Given the description of an element on the screen output the (x, y) to click on. 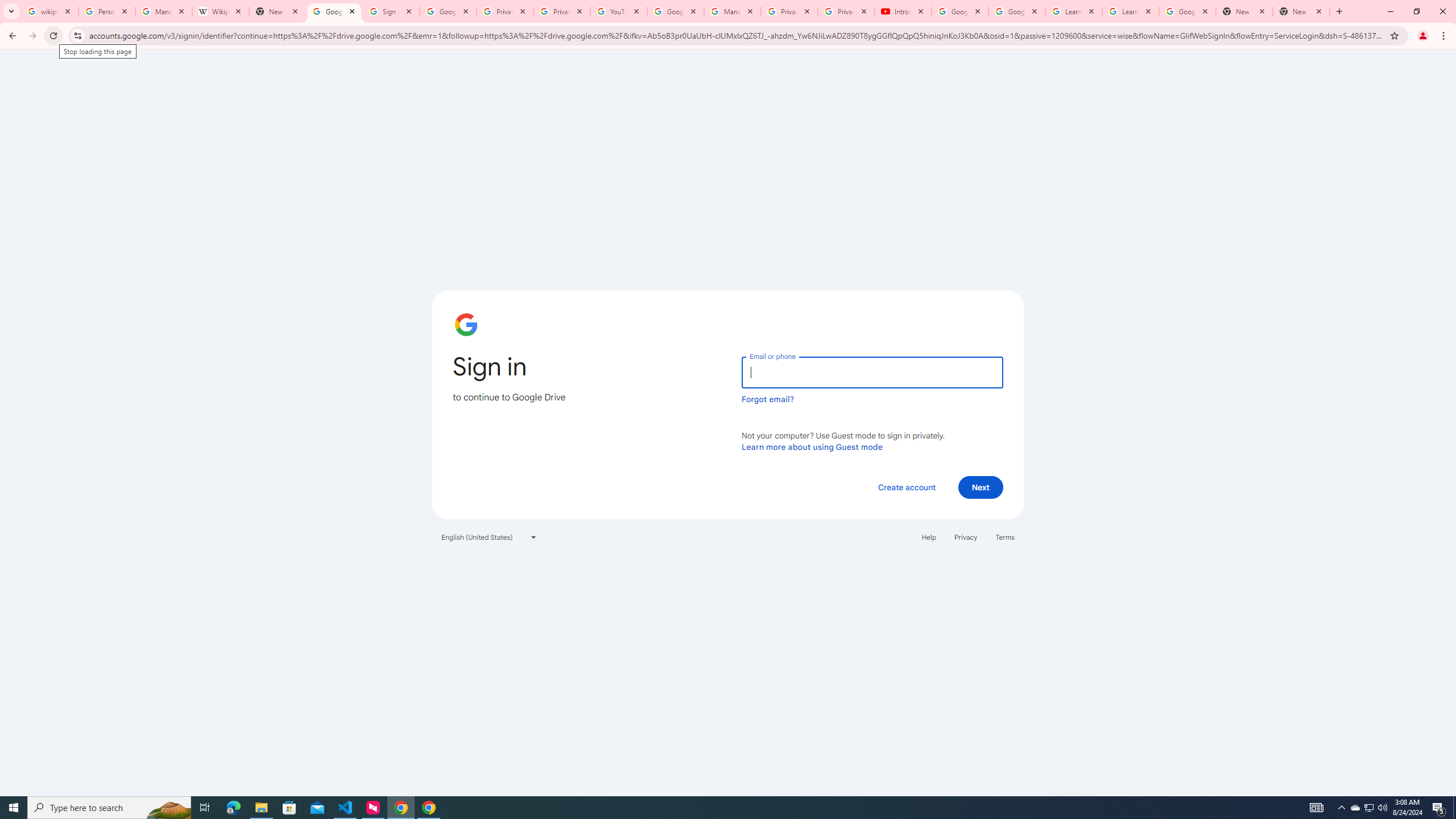
Manage your Location History - Google Search Help (163, 11)
Wikipedia:Edit requests - Wikipedia (220, 11)
Privacy (965, 536)
Next (980, 486)
Google Drive: Sign-in (447, 11)
